Given the description of an element on the screen output the (x, y) to click on. 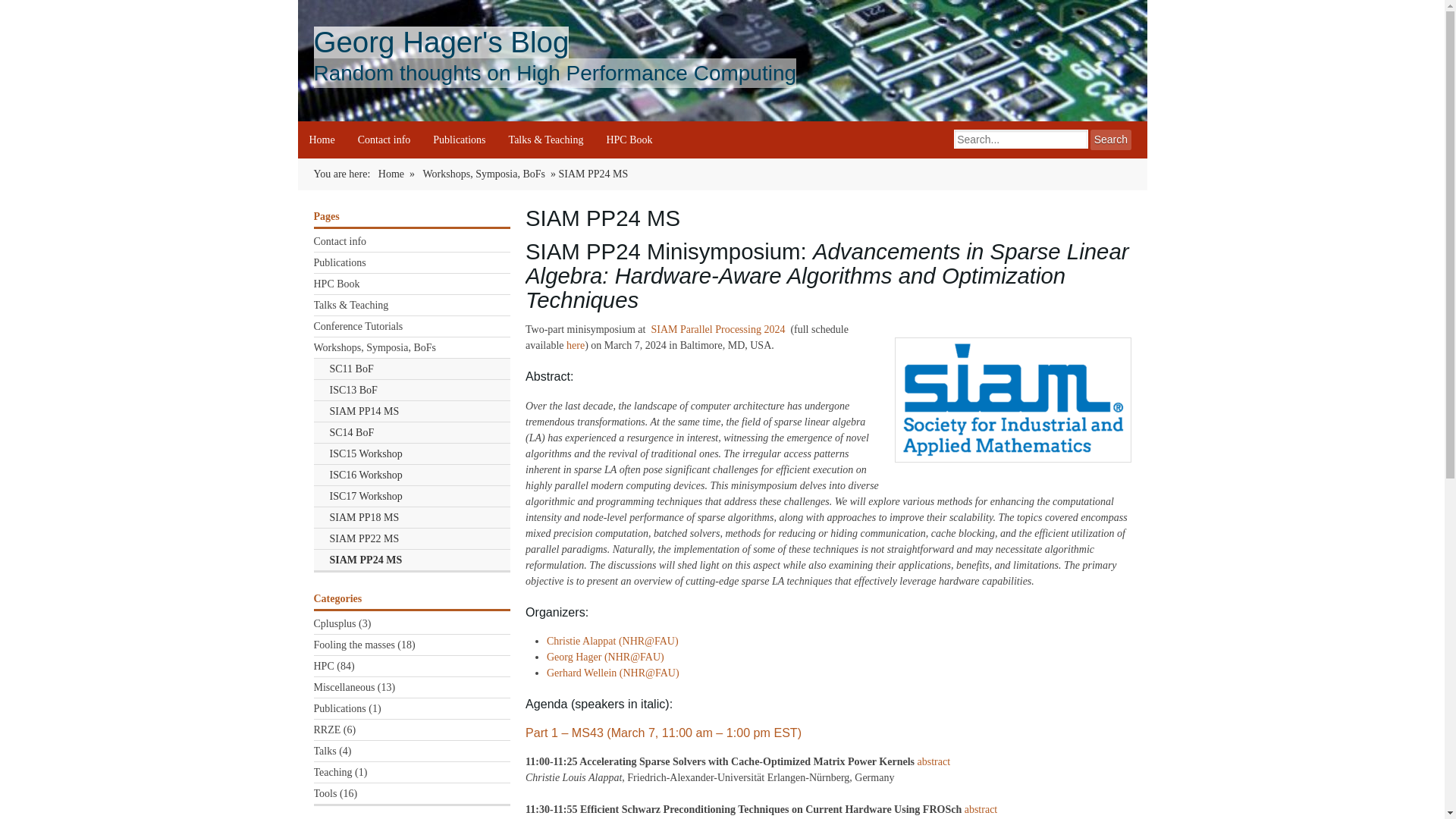
Search (1110, 139)
Contact info (384, 139)
Conference Tutorials (412, 326)
Search (1110, 139)
Georg Hager's Blog (441, 41)
HPC Book (628, 139)
Contact info (412, 241)
Workshops, Symposia, BoFs (483, 173)
Home (390, 173)
HPC Book (412, 283)
